Given the description of an element on the screen output the (x, y) to click on. 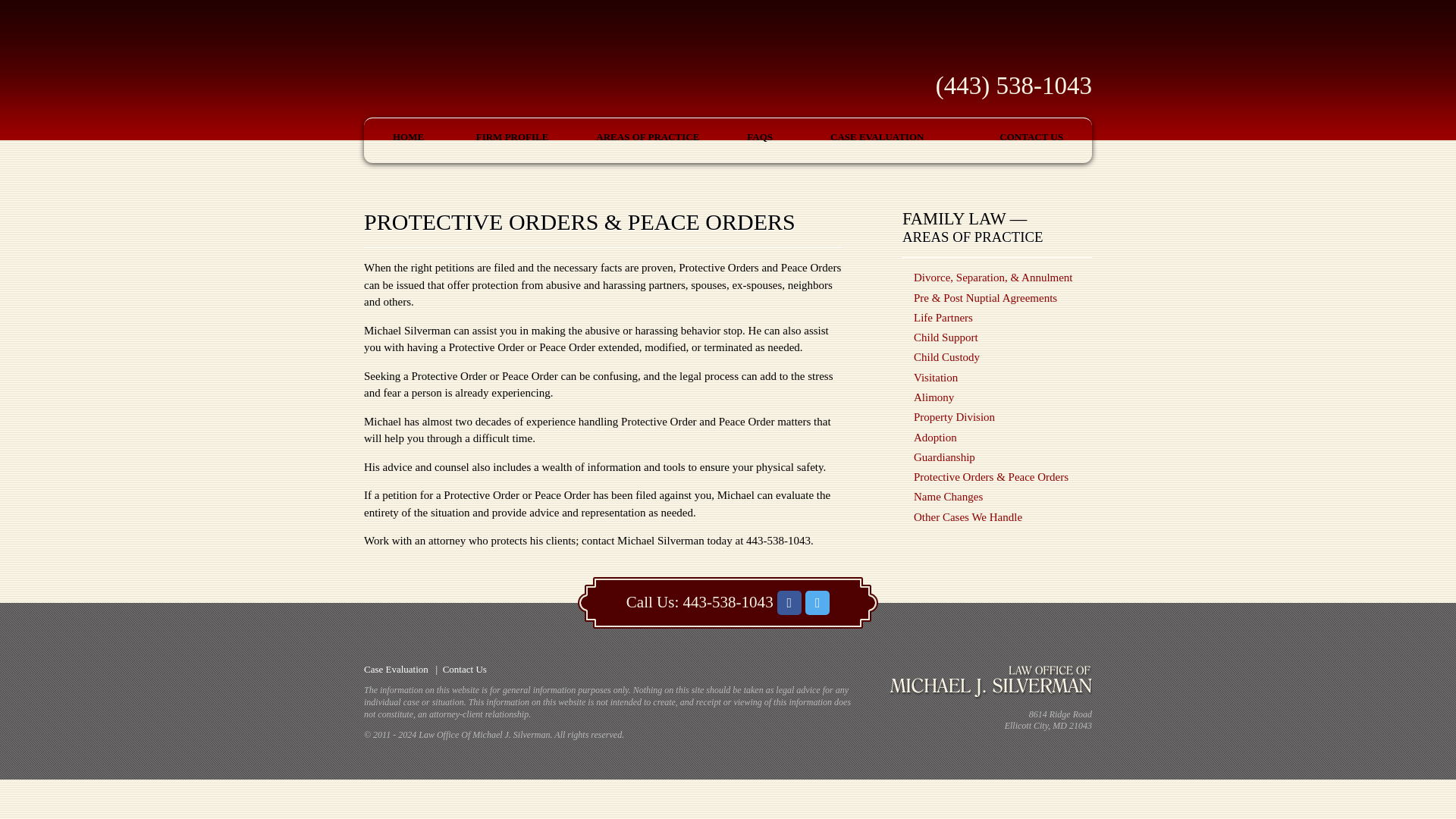
Property Division (954, 417)
Law Office Of Michael J. Silverman (572, 73)
Guardianship (944, 457)
Case Evaluation (396, 668)
Contact Us (464, 668)
SKIP TO CONTENT (415, 144)
Adoption (935, 437)
FAQS (759, 137)
CASE EVALUATION (877, 137)
Child Support (946, 337)
FIRM PROFILE (512, 137)
CONTACT US (1031, 137)
Facebook (789, 602)
Life Partners (943, 317)
LAW OFFICE OF MICHAEL J. SILVERMAN (572, 73)
